Given the description of an element on the screen output the (x, y) to click on. 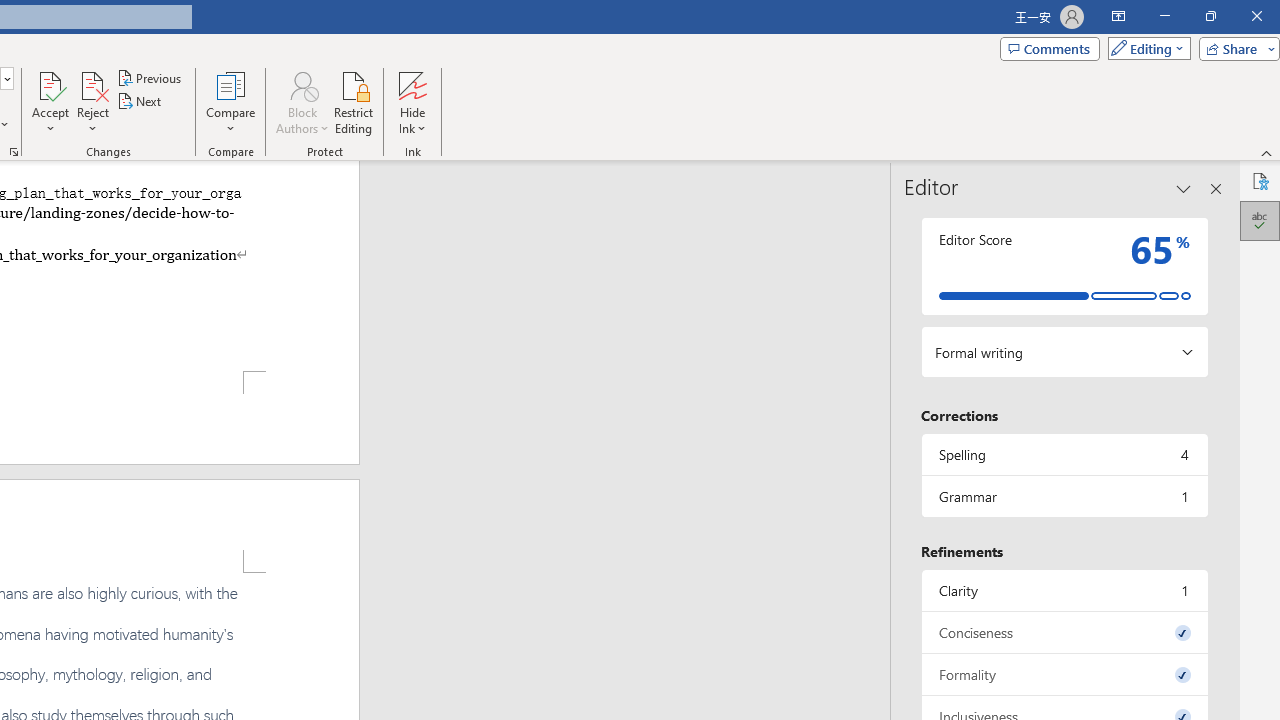
Accessibility (1260, 180)
Previous (150, 78)
Change Tracking Options... (13, 151)
Reject and Move to Next (92, 84)
Reject (92, 102)
Accept and Move to Next (50, 84)
Clarity, 1 issue. Press space or enter to review items. (1064, 590)
Compare (230, 102)
Restrict Editing (353, 102)
